Given the description of an element on the screen output the (x, y) to click on. 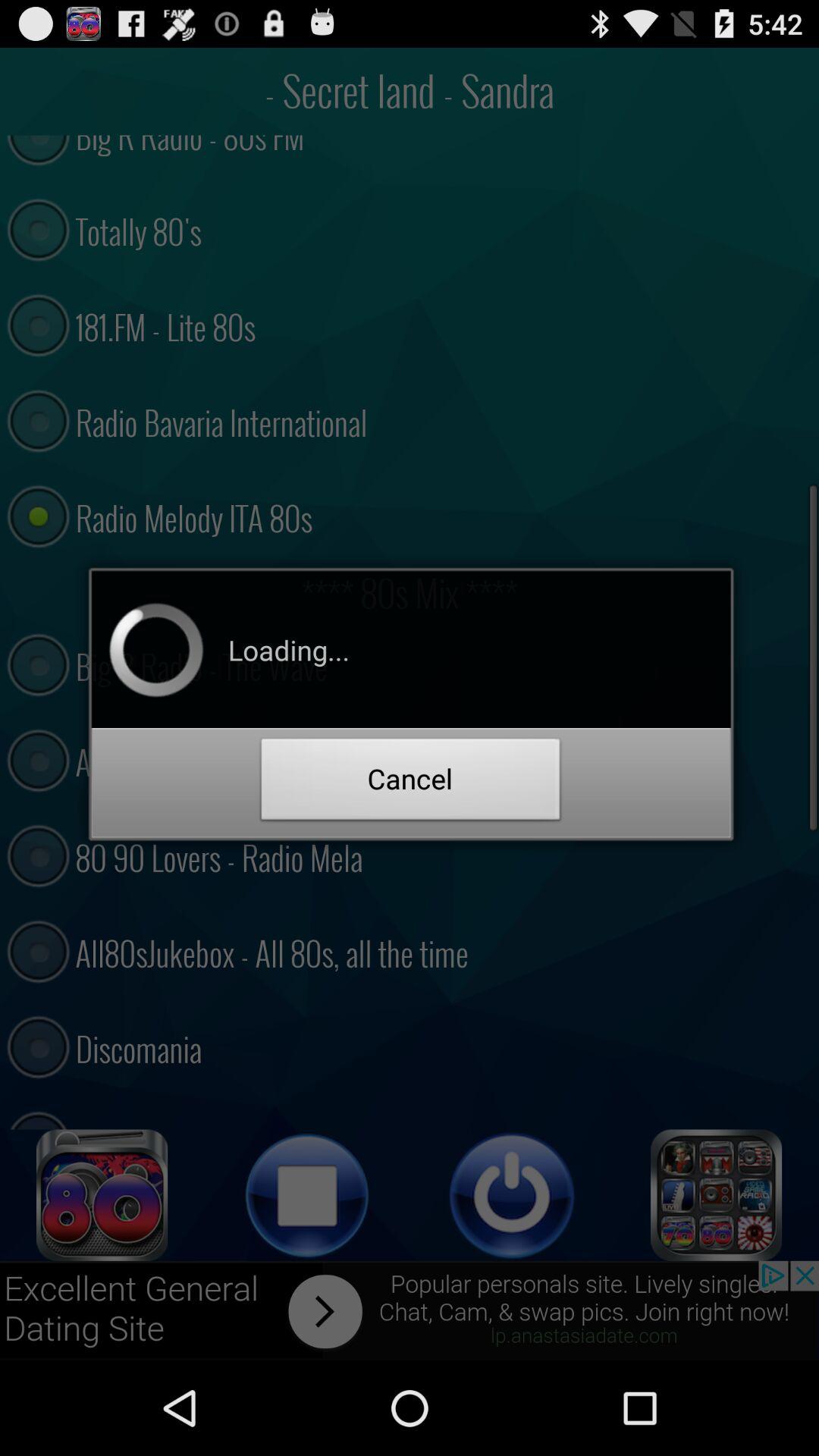
more option (716, 1194)
